Given the description of an element on the screen output the (x, y) to click on. 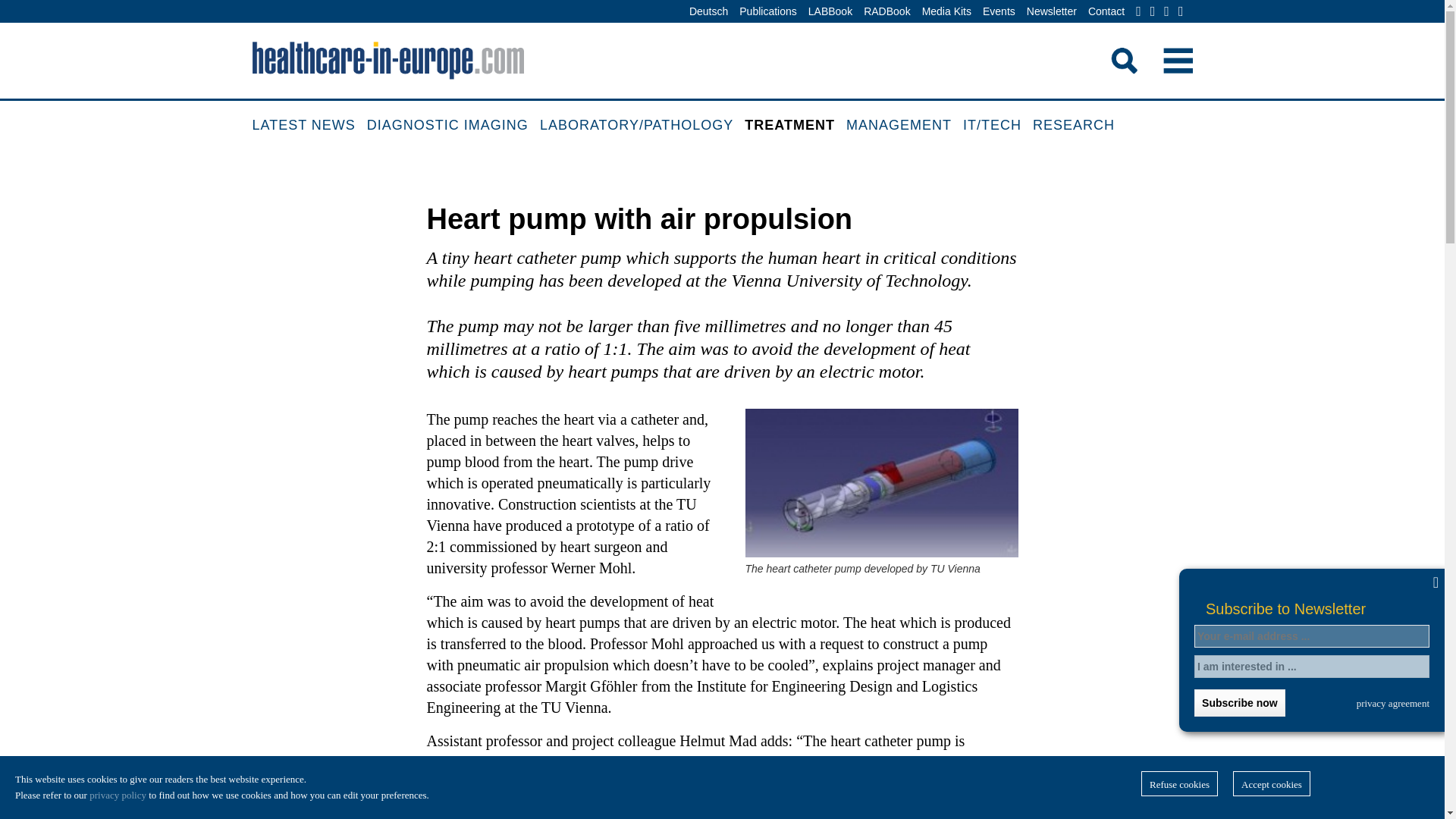
DIAGNOSTIC IMAGING (453, 126)
Events (998, 12)
LATEST NEWS (308, 126)
RADBook (887, 12)
TREATMENT (794, 126)
Publications (767, 12)
Media Kits (946, 12)
LABBook (830, 12)
Deutsch (708, 12)
RESEARCH (1078, 126)
